Given the description of an element on the screen output the (x, y) to click on. 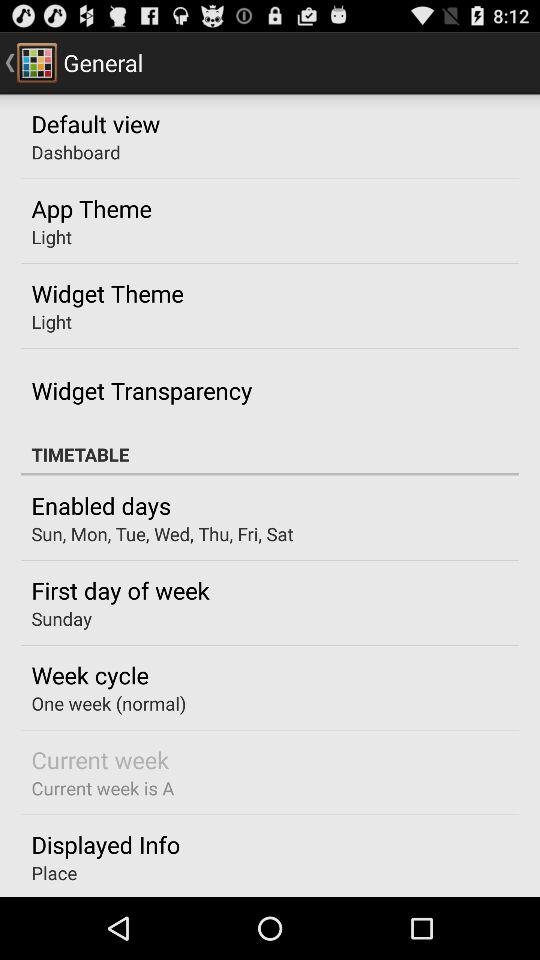
open sunday item (61, 618)
